Given the description of an element on the screen output the (x, y) to click on. 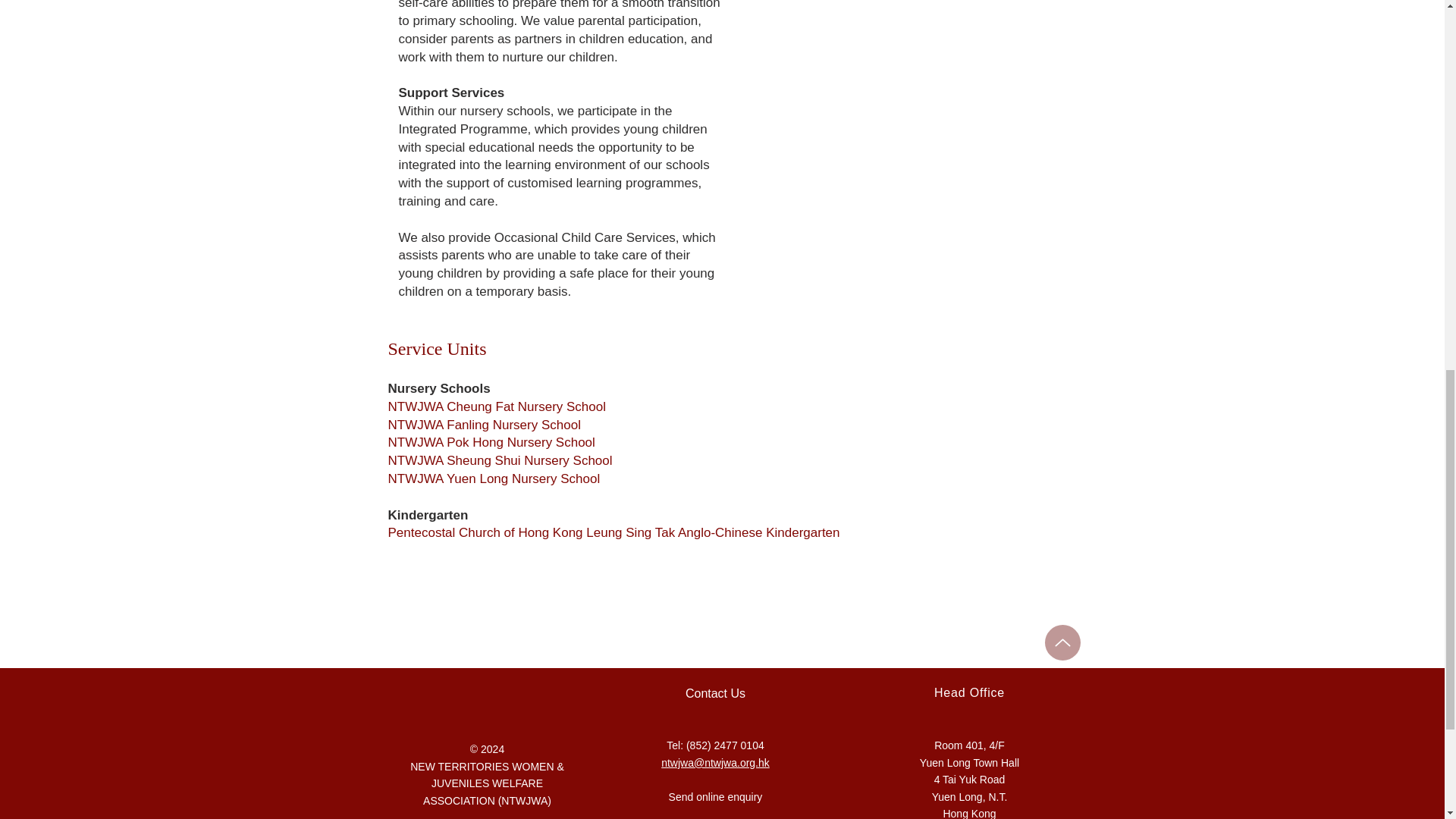
NTWJWA Yuen Long Nursery School (493, 478)
Send online enquiry (715, 797)
NTWJWA Fanling Nursery School (484, 424)
NTWJWA Sheung Shui Nursery School (500, 460)
NTWJWA Cheung Fat Nursery School (497, 406)
NTWJWA Pok Hong Nursery School (491, 441)
